Given the description of an element on the screen output the (x, y) to click on. 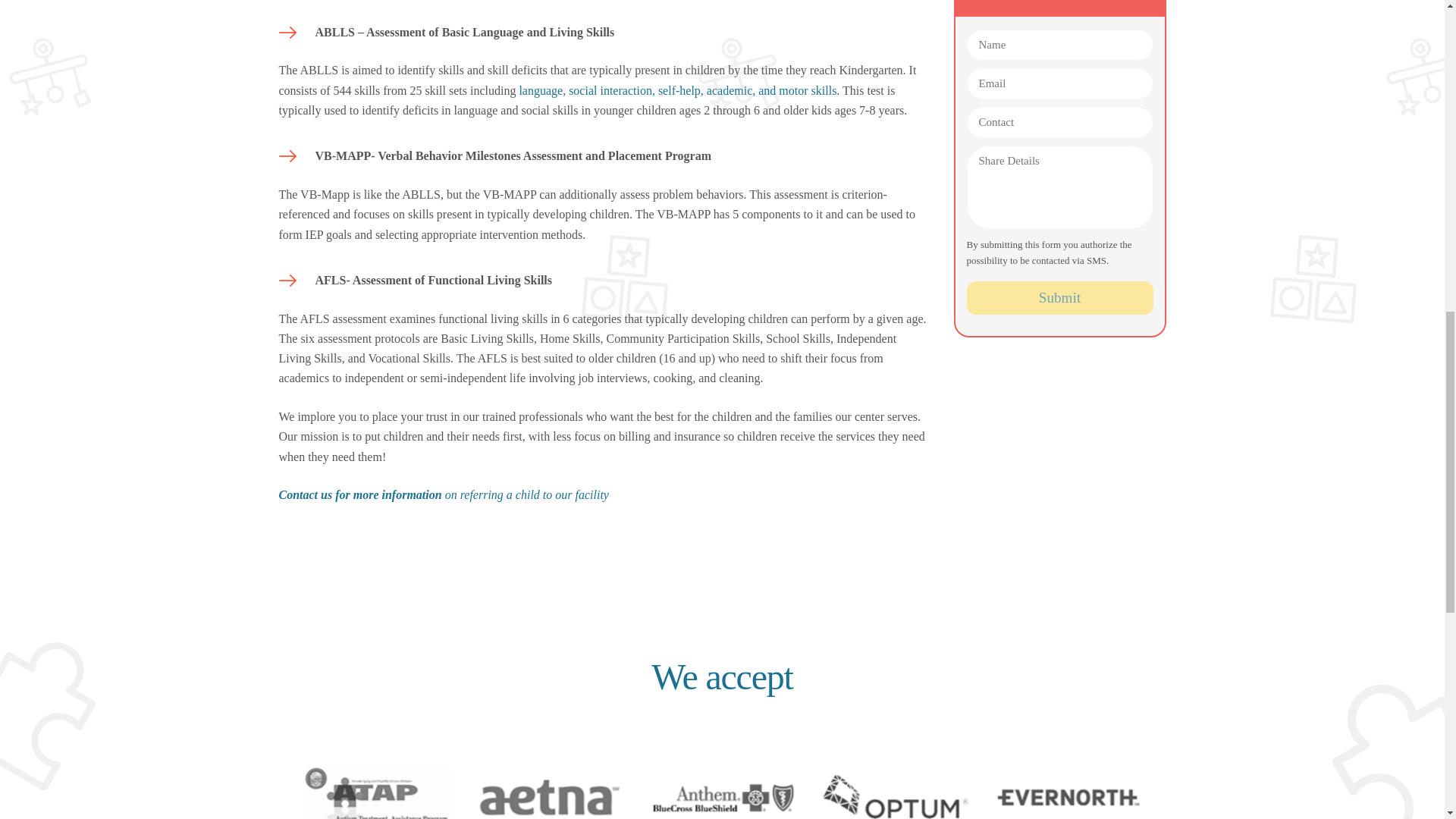
Submit (1059, 298)
